Given the description of an element on the screen output the (x, y) to click on. 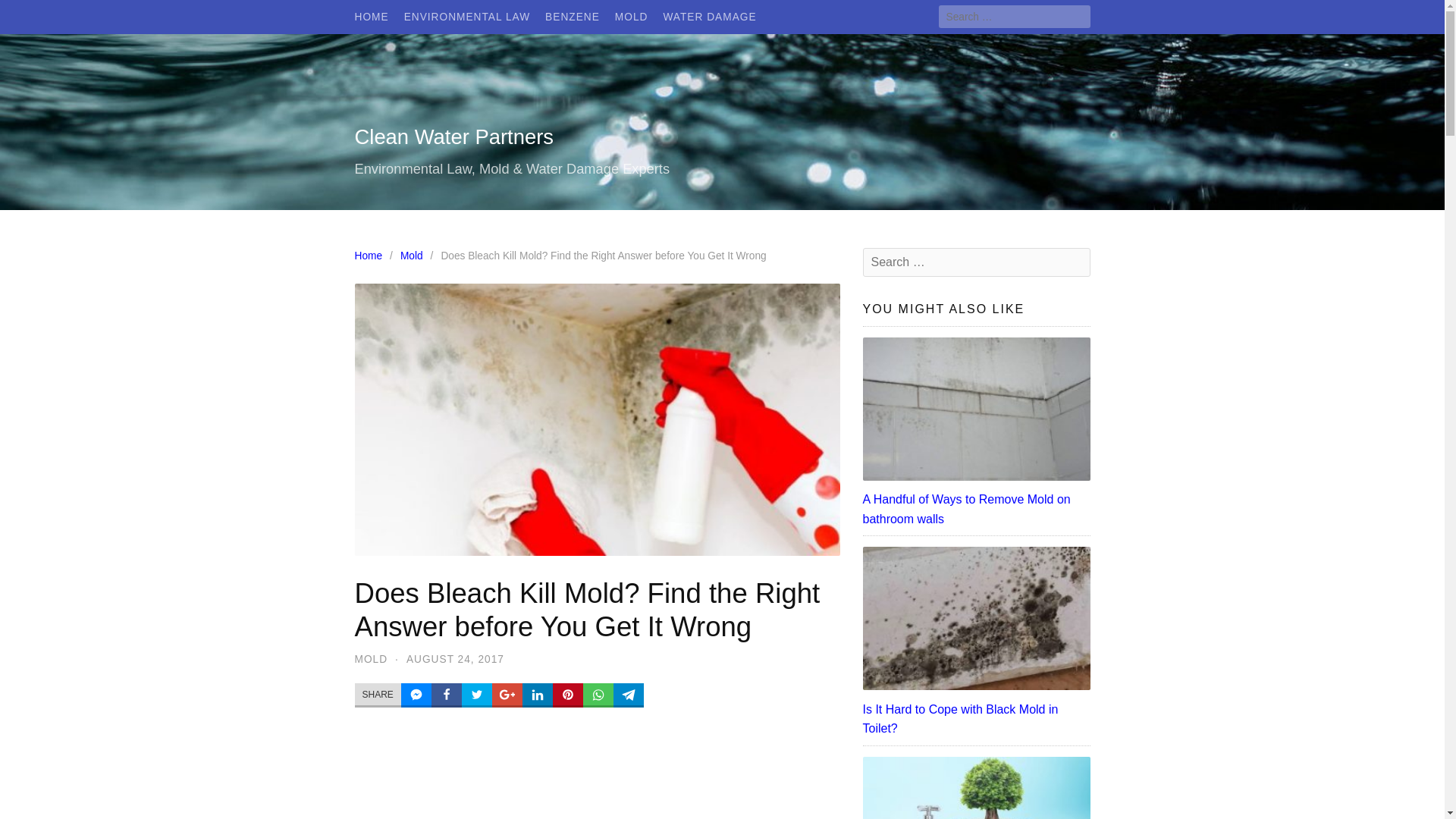
MOLD (371, 659)
Clean Water Partners (454, 136)
A Handful of Ways to Remove Mold on bathroom walls (976, 508)
Advertisement (597, 776)
Home (372, 255)
Search (31, 14)
Is It Hard to Cope with Black Mold in Toilet? (976, 719)
Mold (415, 255)
